Given the description of an element on the screen output the (x, y) to click on. 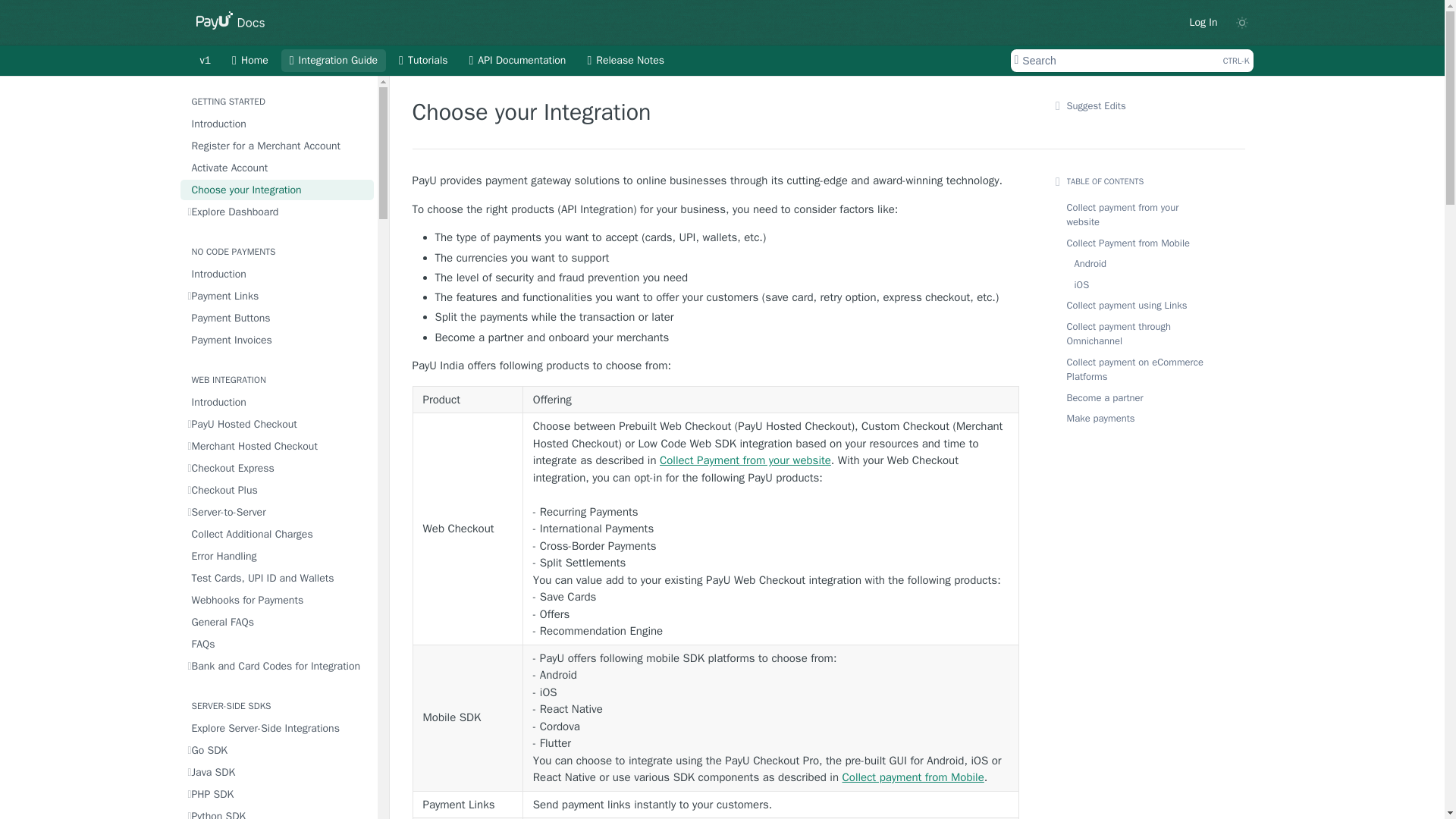
Tutorials (422, 60)
API Documentation (518, 60)
Explore Dashboard (277, 211)
Activate Account (277, 168)
Integration Guide (333, 60)
Introduction (277, 123)
Register for a Merchant Account (277, 145)
Log In (1202, 21)
Release Notes (1131, 60)
